Given the description of an element on the screen output the (x, y) to click on. 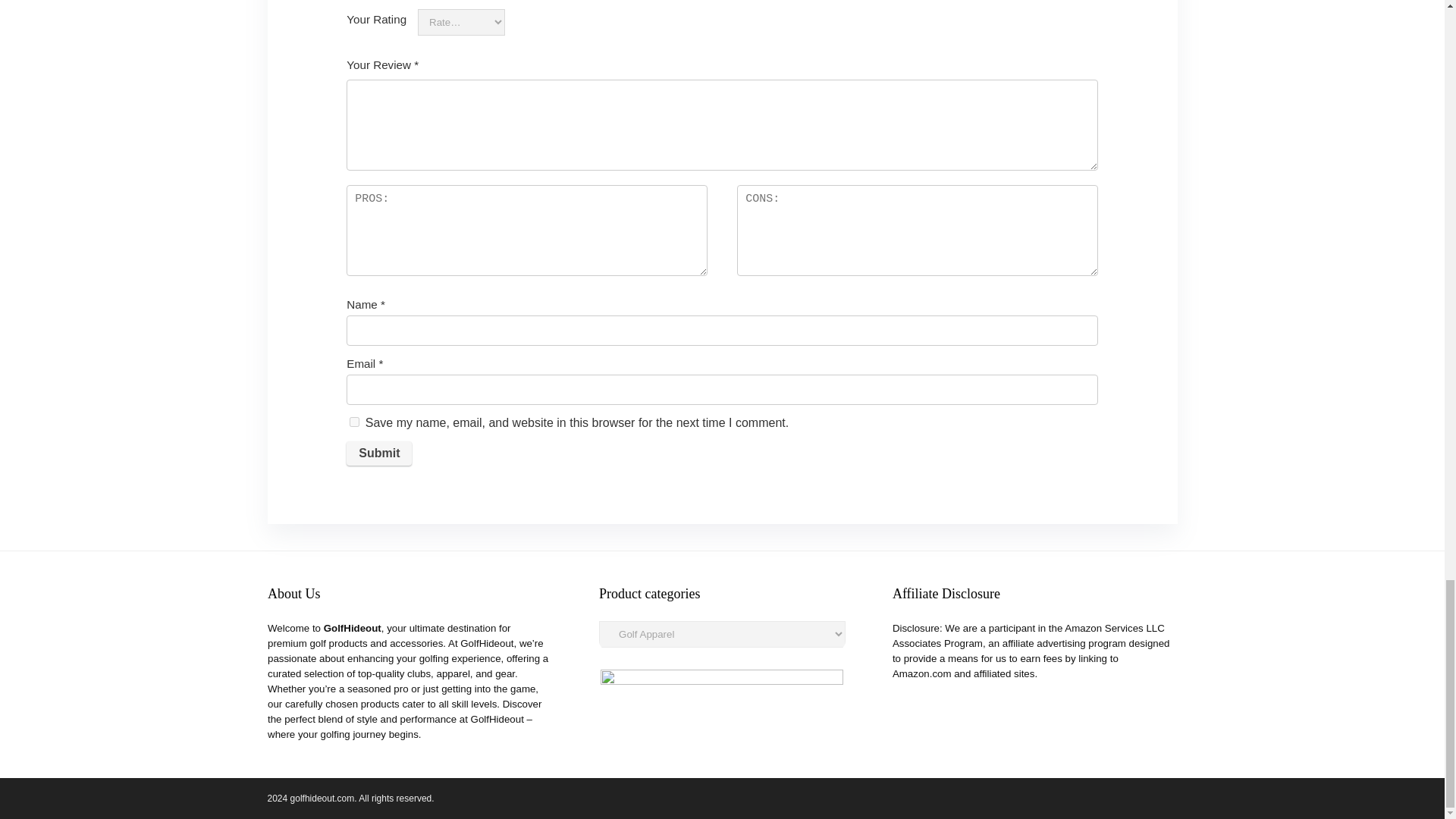
Submit (379, 453)
yes (354, 421)
